Given the description of an element on the screen output the (x, y) to click on. 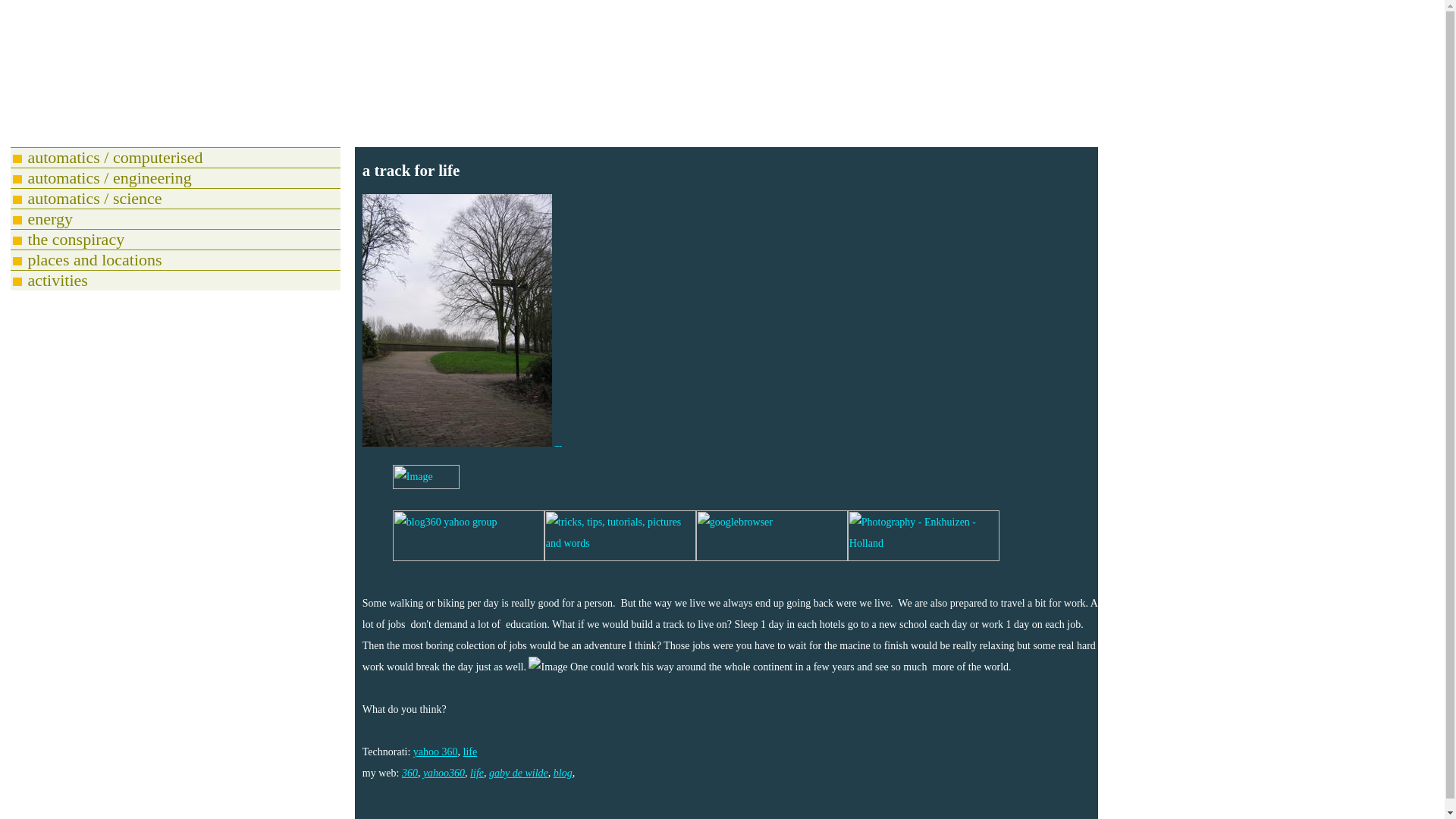
blog (562, 772)
life (476, 772)
360 (409, 772)
yahoo360 (443, 772)
gaby de wilde (518, 772)
life (470, 751)
yahoo 360 (435, 751)
